Given the description of an element on the screen output the (x, y) to click on. 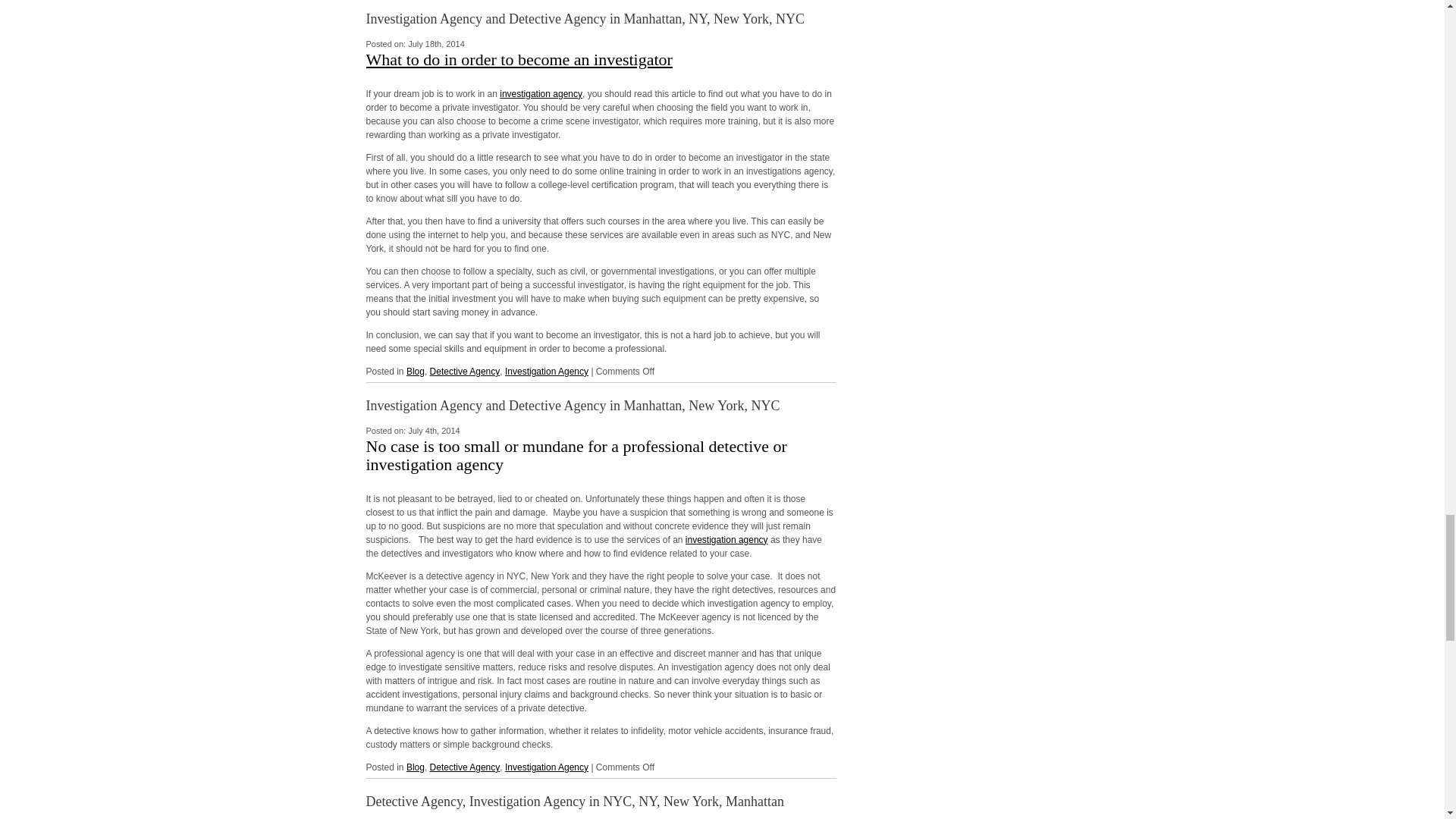
investigation agency (540, 93)
